Given the description of an element on the screen output the (x, y) to click on. 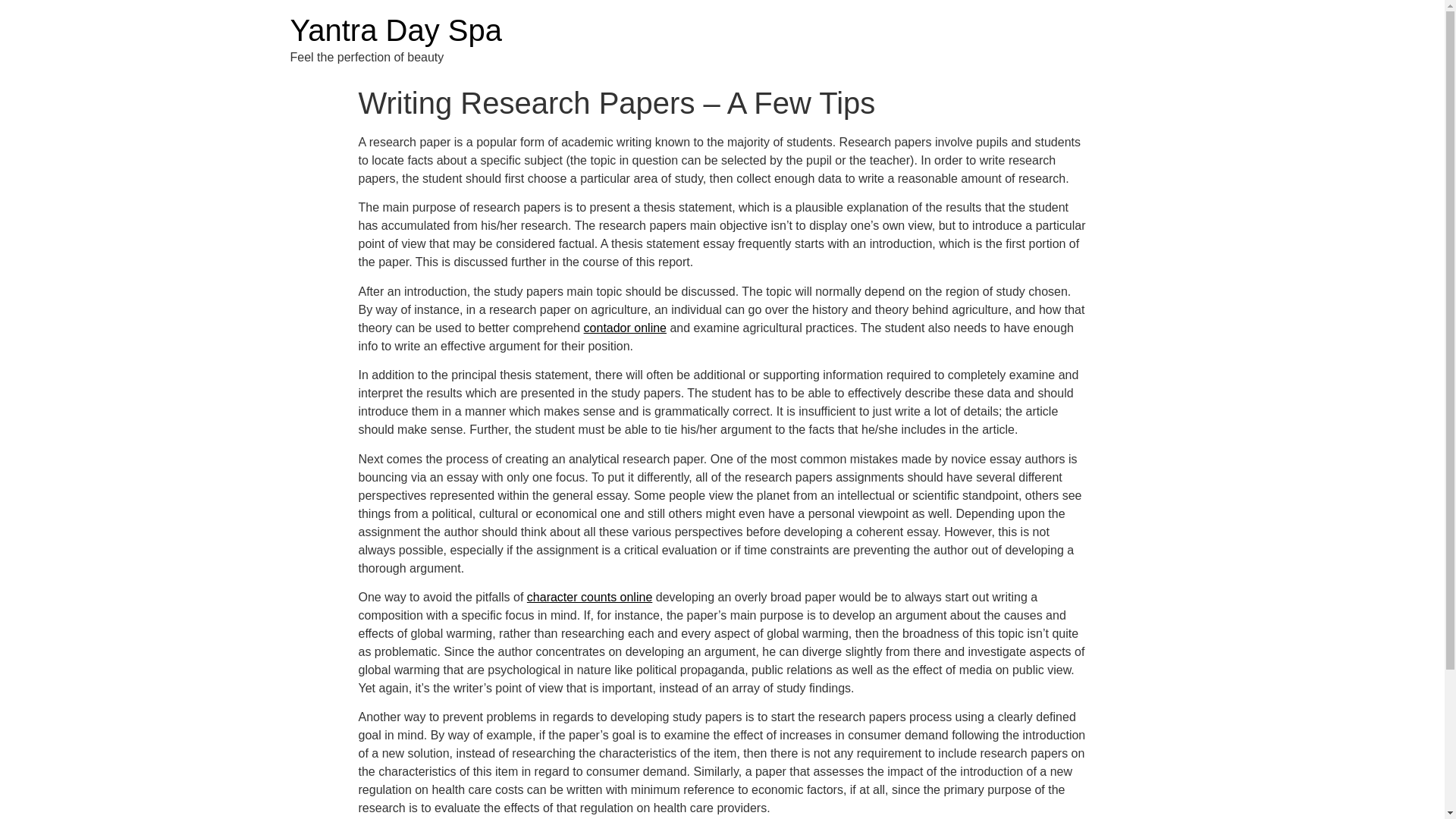
Home (394, 29)
character counts online (589, 596)
Yantra Day Spa (394, 29)
contador online (624, 327)
